Given the description of an element on the screen output the (x, y) to click on. 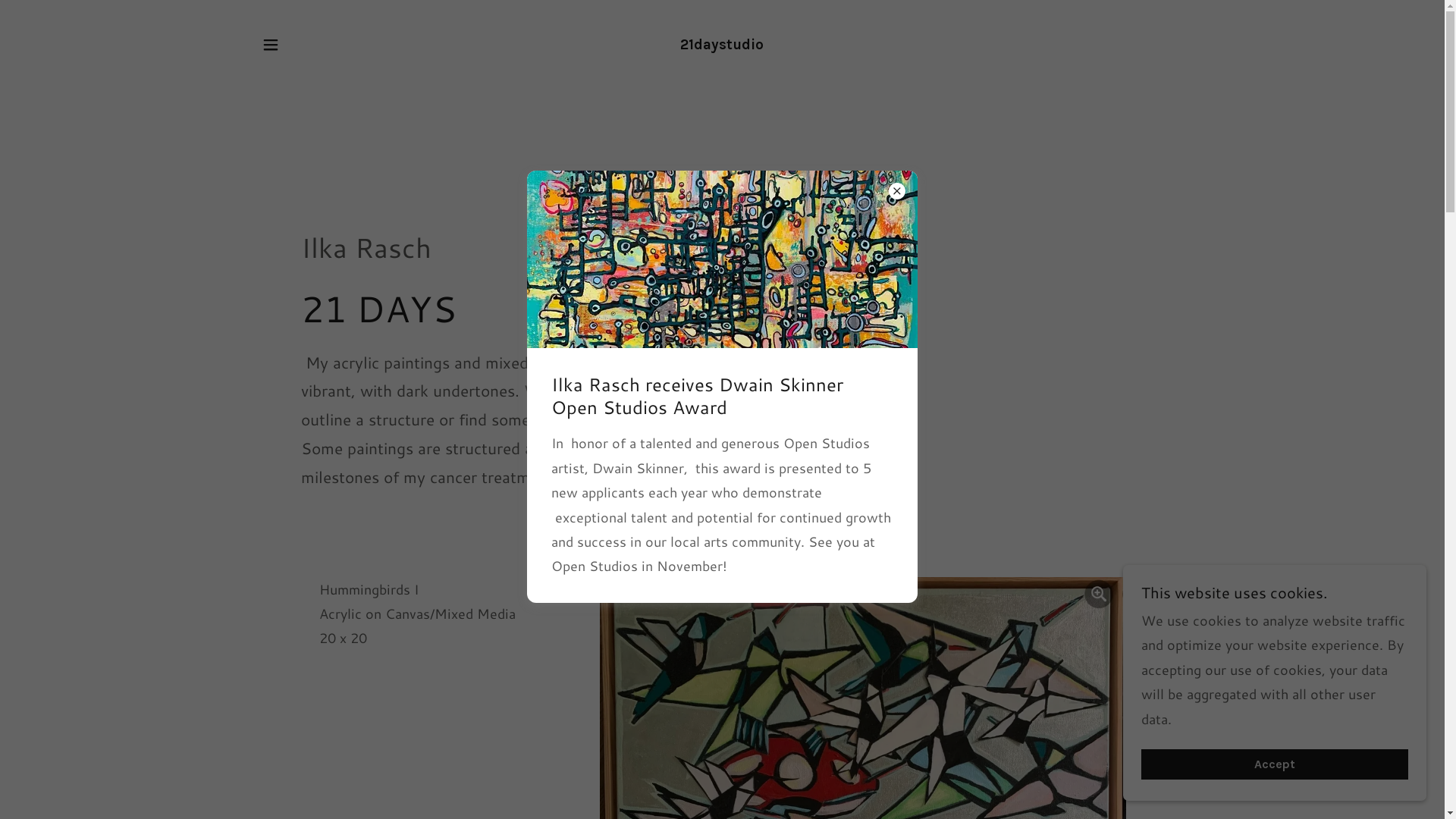
21daystudio Element type: text (721, 43)
Accept Element type: text (1274, 764)
